Given the description of an element on the screen output the (x, y) to click on. 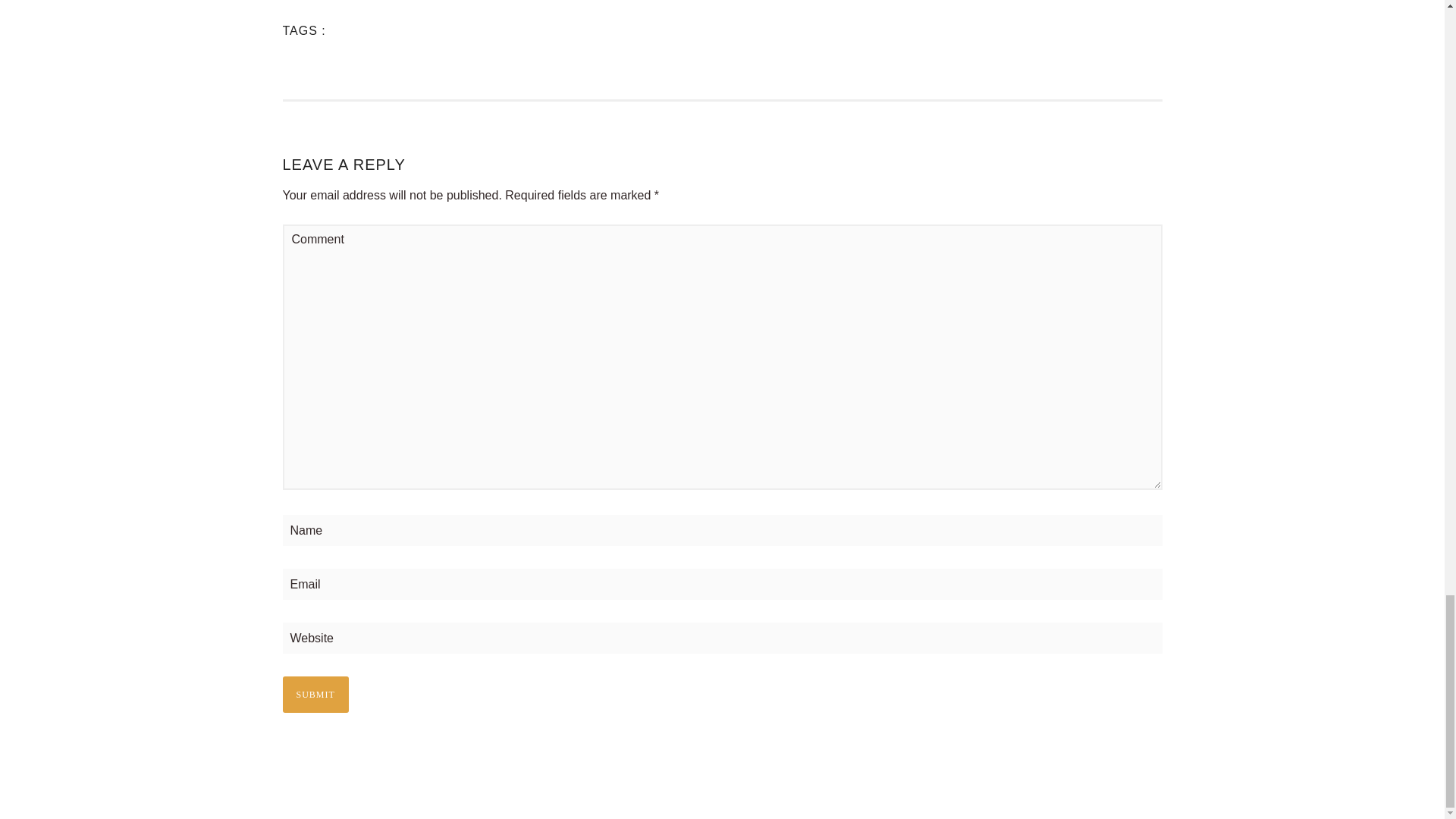
Submit (314, 694)
Submit (314, 694)
